Given the description of an element on the screen output the (x, y) to click on. 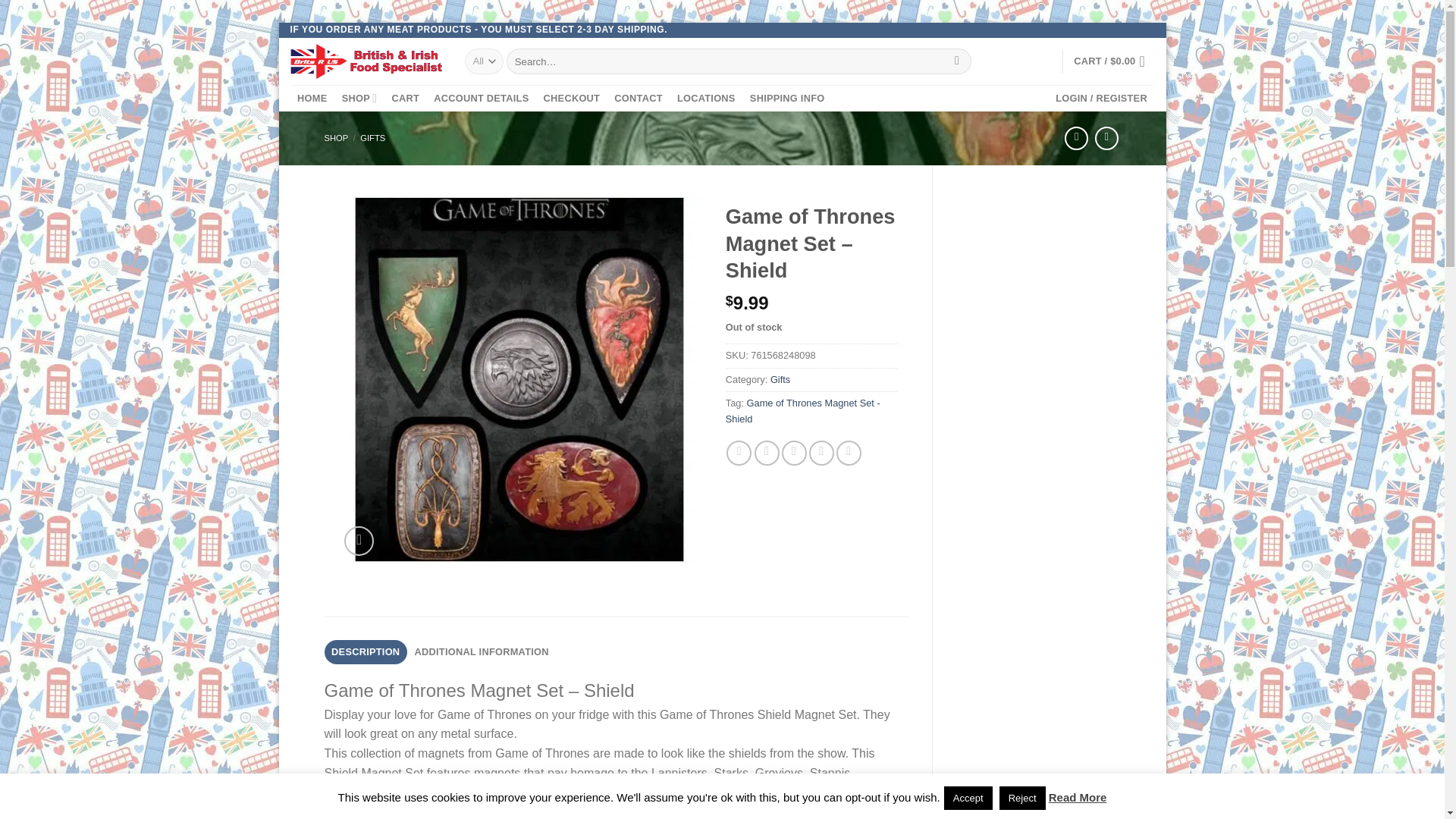
Share on Twitter (766, 453)
SHOP (359, 98)
Share on Facebook (738, 453)
CART (405, 98)
Zoom (358, 541)
Pin on Pinterest (821, 453)
Email to a Friend (793, 453)
HOME (311, 98)
Share on LinkedIn (848, 453)
Brits R U.S. (365, 61)
